Given the description of an element on the screen output the (x, y) to click on. 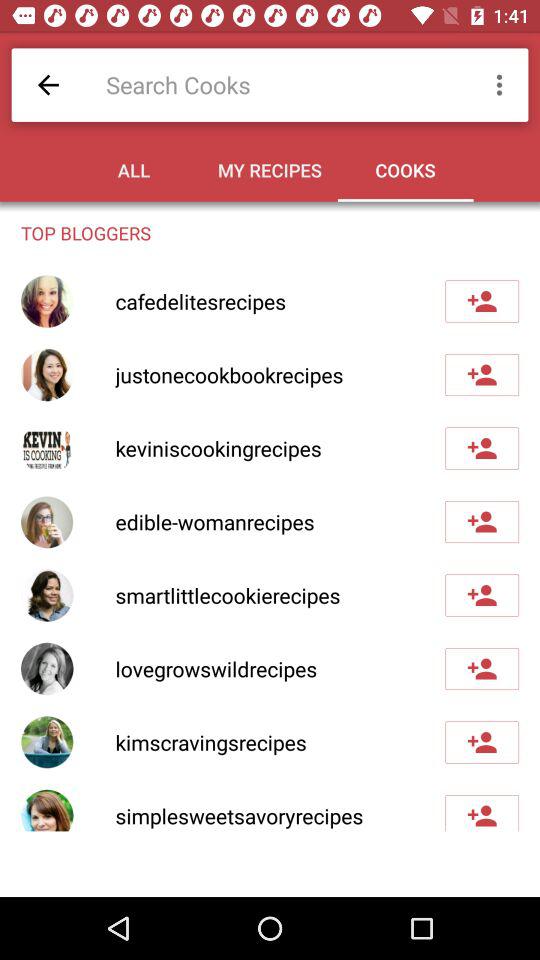
add this person (482, 522)
